Given the description of an element on the screen output the (x, y) to click on. 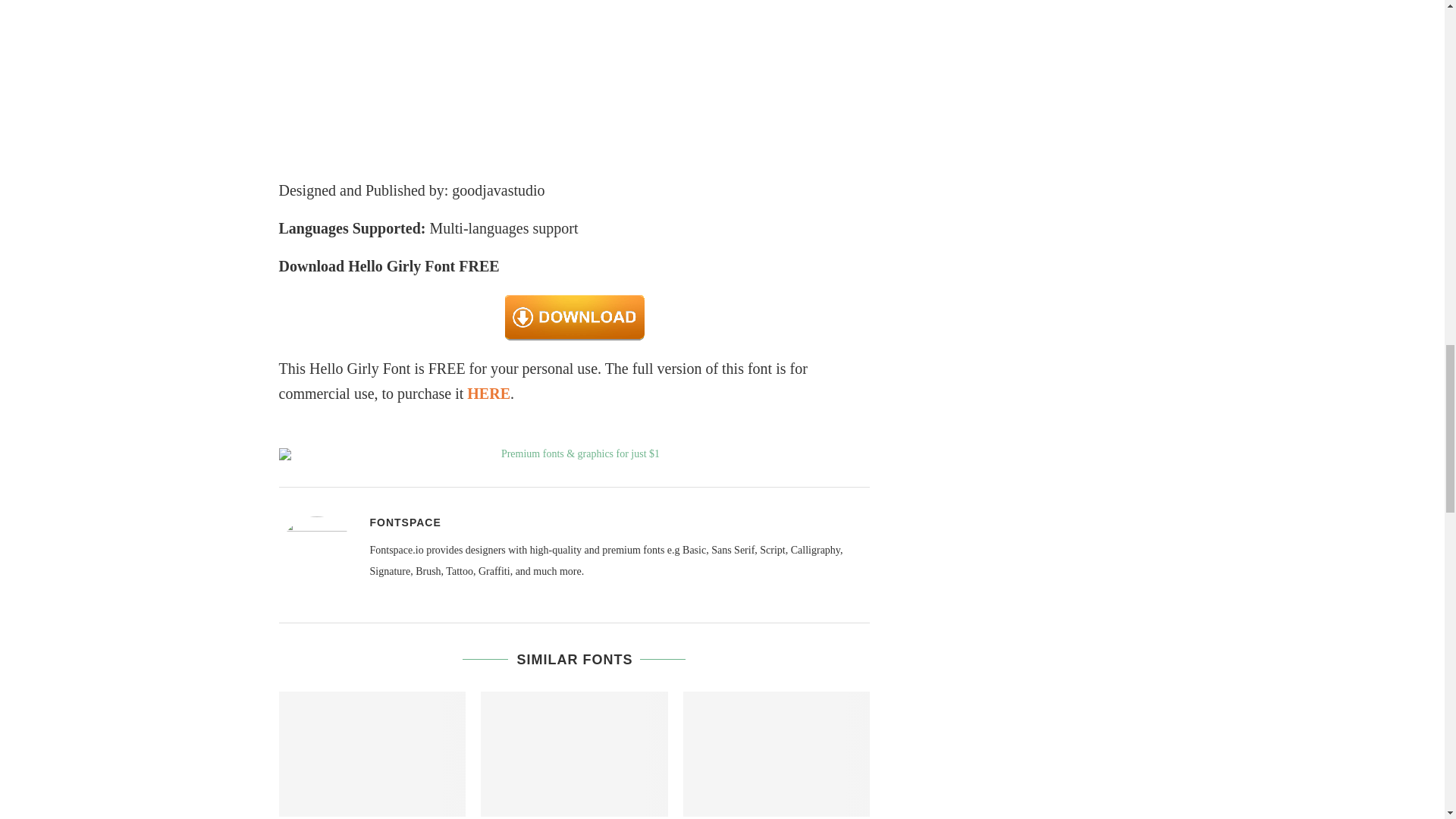
Shining Monday Font (776, 753)
Groovy Day Font (372, 753)
Posts by Fontspace (405, 522)
Salty Mussy Font (574, 753)
